Given the description of an element on the screen output the (x, y) to click on. 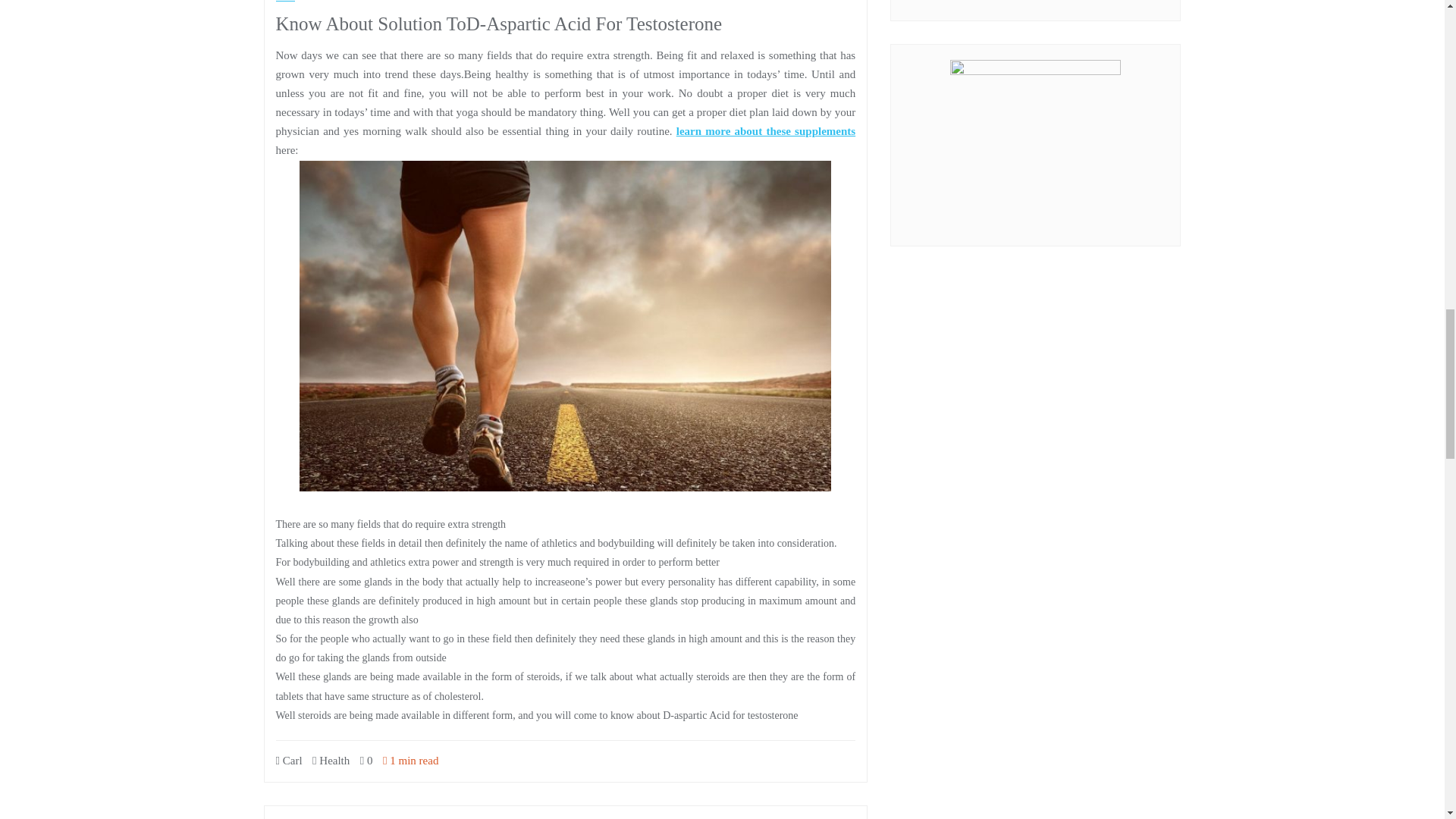
learn more about these supplements (766, 131)
Carl (289, 760)
August 30, 2021 (317, 0)
Know About Solution ToD-Aspartic Acid For Testosterone (499, 23)
0 (365, 760)
Health (331, 760)
